Given the description of an element on the screen output the (x, y) to click on. 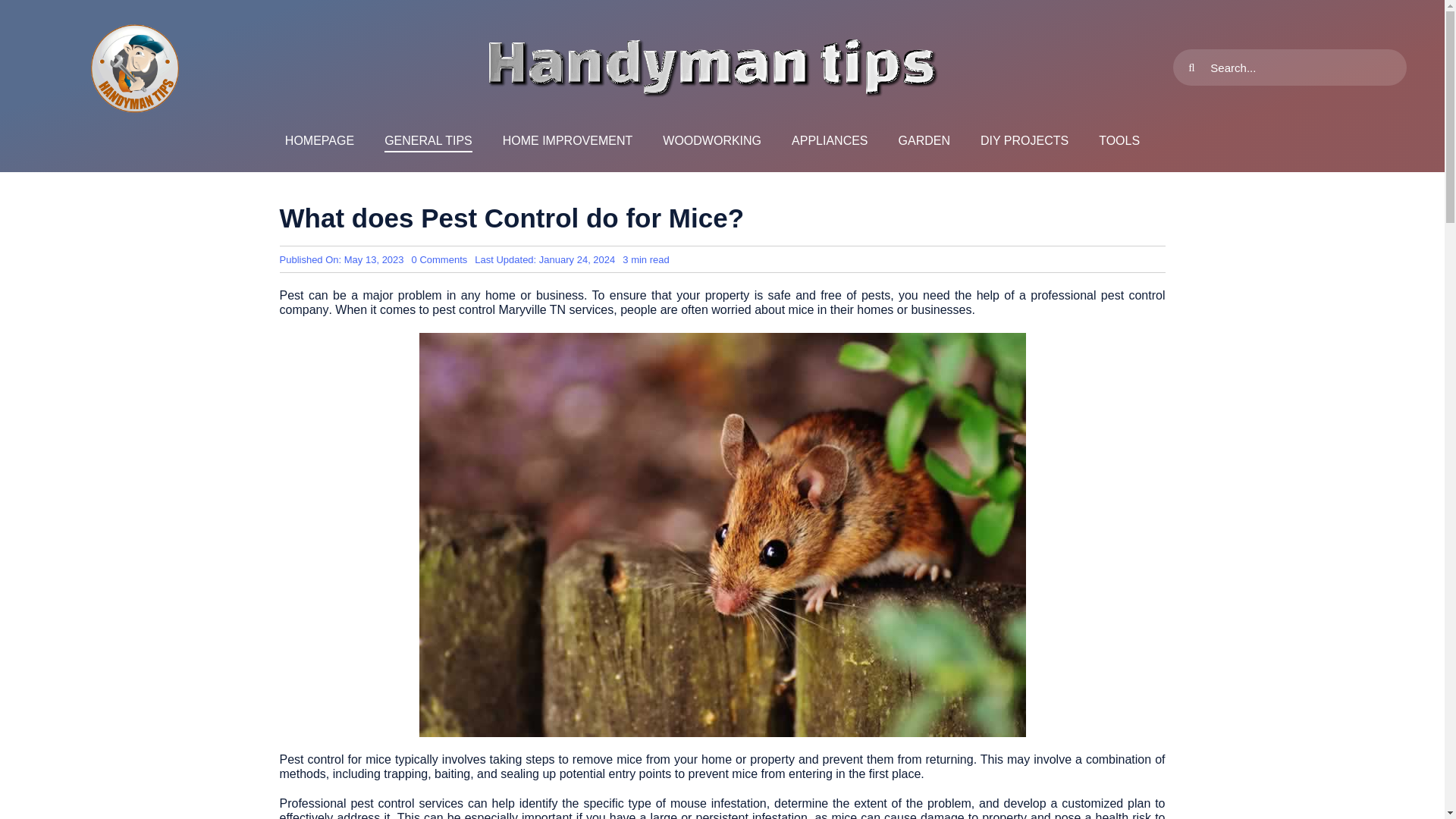
DIY PROJECTS (1023, 141)
APPLIANCES (829, 141)
handyman tips text (711, 67)
GENERAL TIPS (427, 141)
WOODWORKING (711, 141)
HOME IMPROVEMENT (439, 259)
GARDEN (567, 141)
Handyman tips logo trans (924, 141)
TOOLS (134, 67)
